Given the description of an element on the screen output the (x, y) to click on. 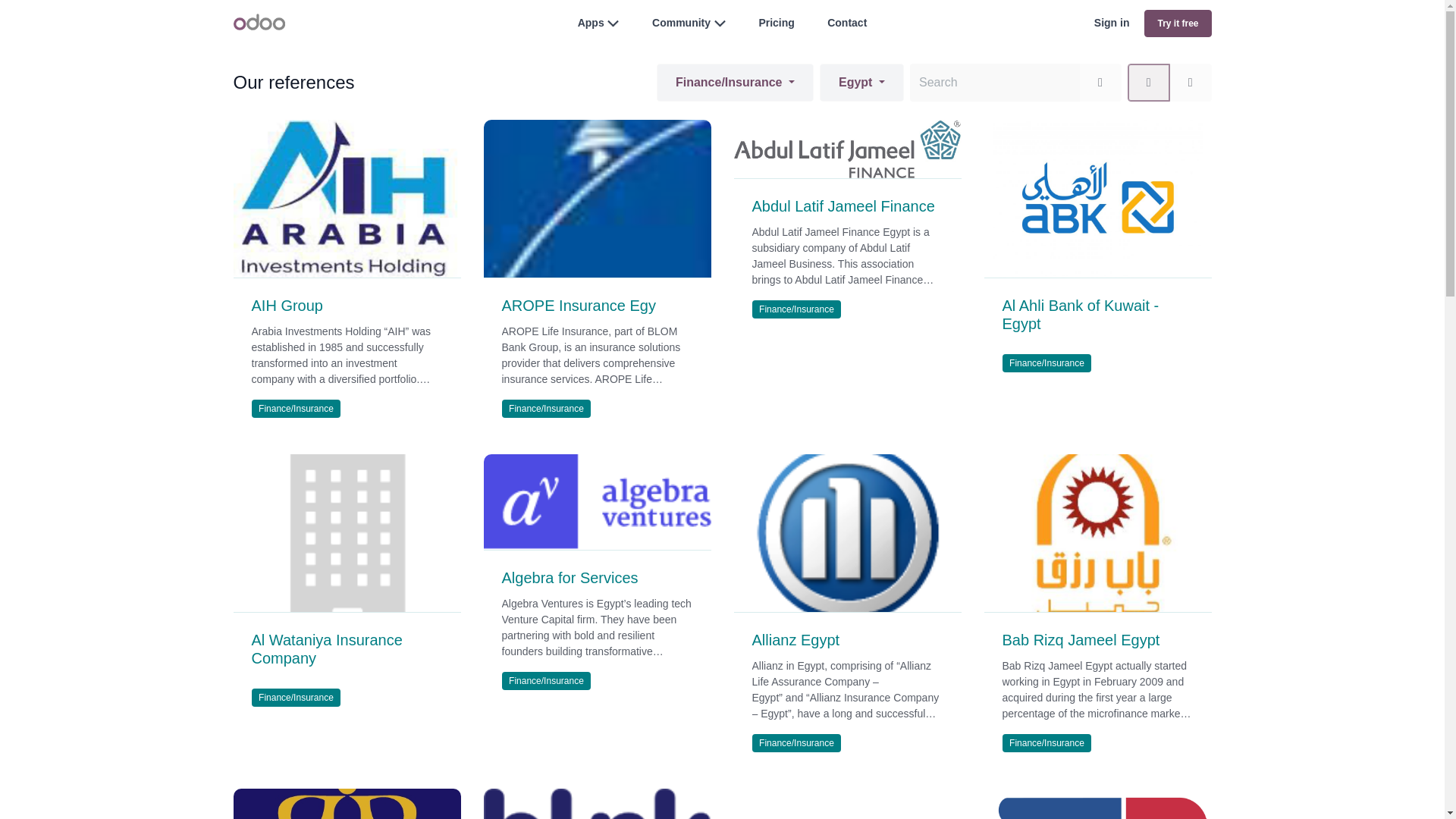
Apps (591, 22)
Sign in (1111, 22)
Try it free (1177, 22)
Search (1099, 82)
Odoo (258, 21)
